Given the description of an element on the screen output the (x, y) to click on. 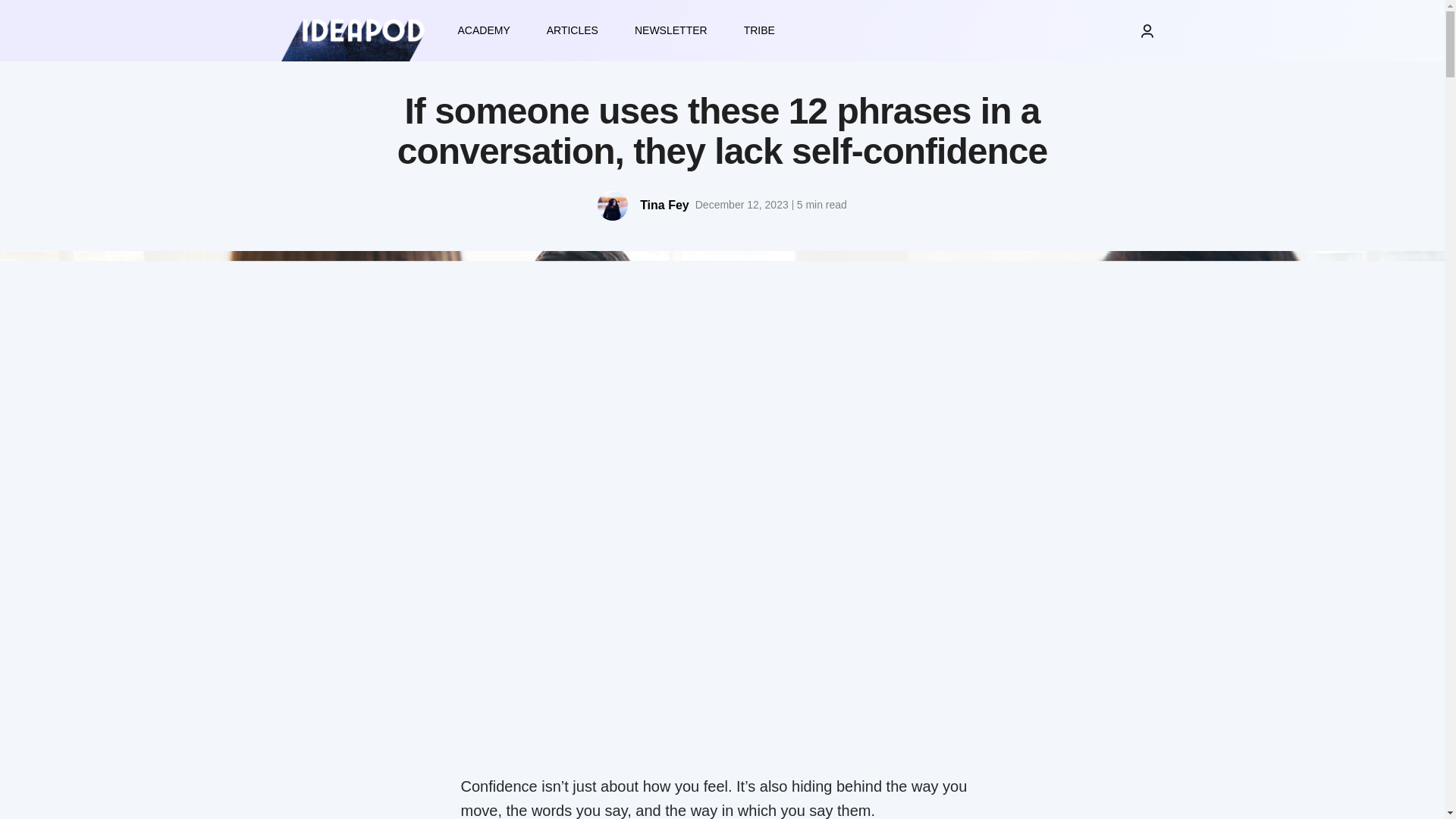
ACADEMY (483, 30)
NEWSLETTER (670, 30)
ARTICLES (571, 30)
